Given the description of an element on the screen output the (x, y) to click on. 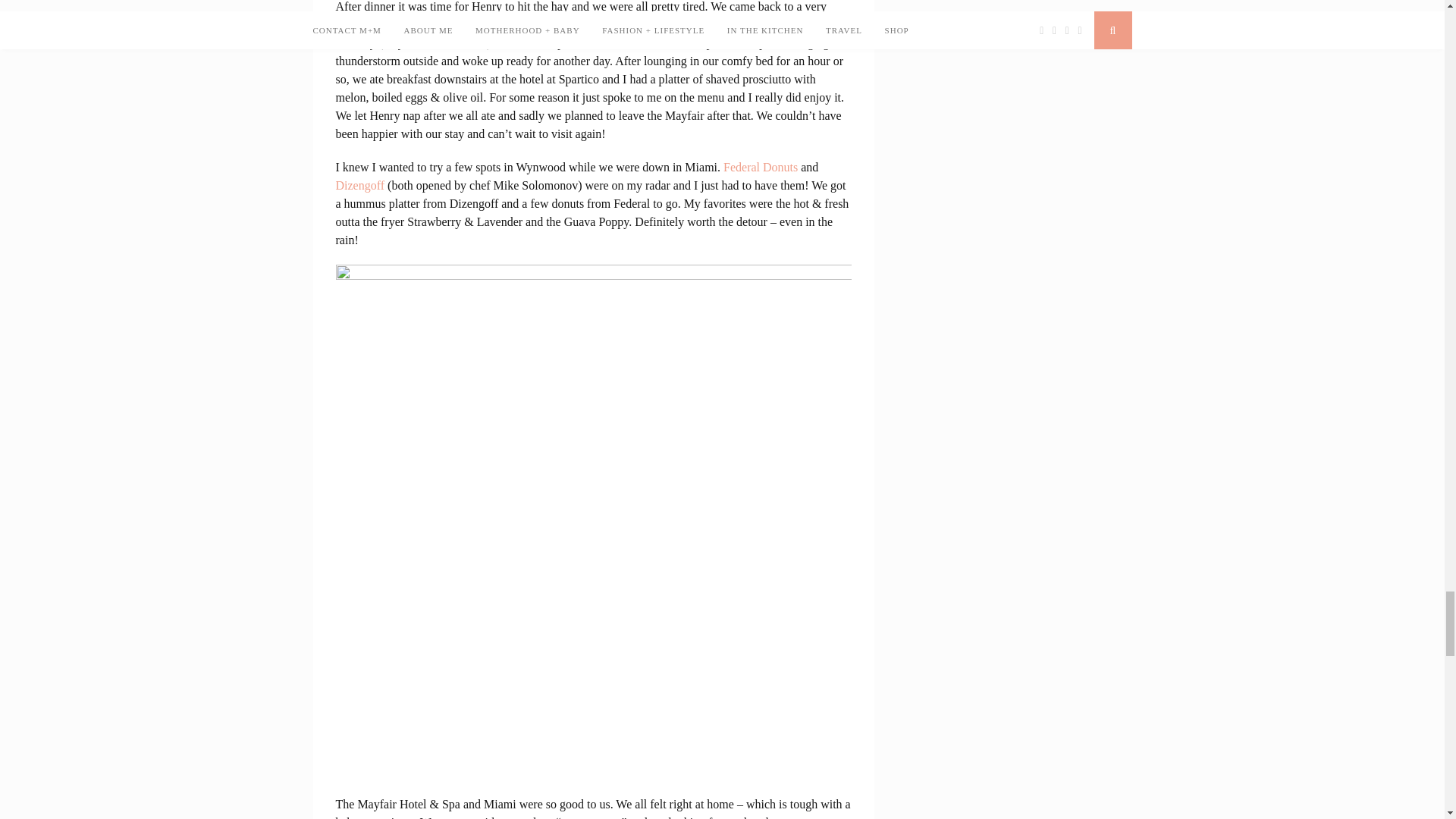
Federal Donuts (760, 166)
Dizengoff (359, 185)
